Given the description of an element on the screen output the (x, y) to click on. 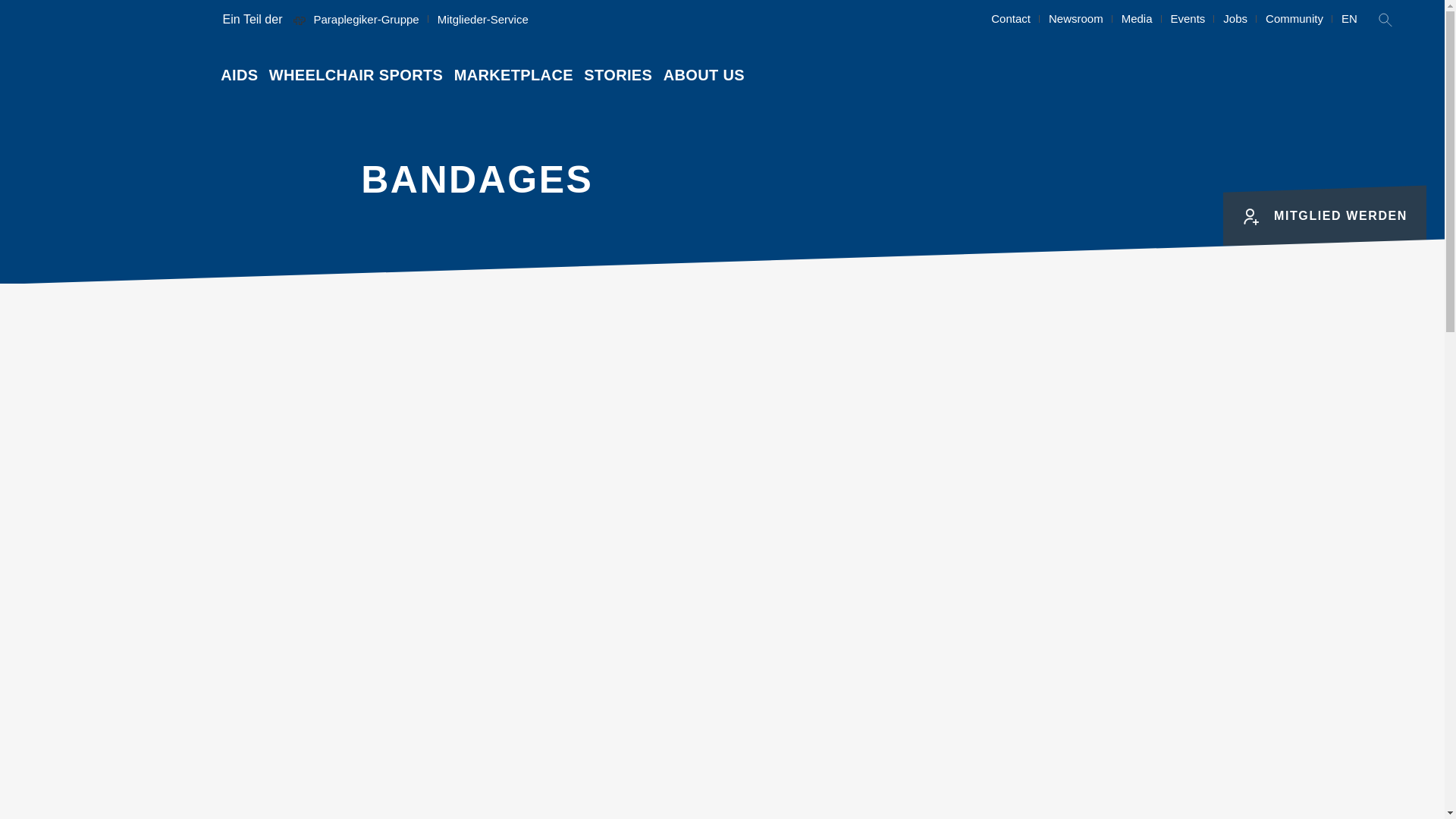
Media (1136, 18)
Paraplegiker-Gruppe (355, 18)
AIDS (239, 75)
EN (1349, 18)
ABOUT US (703, 75)
Events (1187, 18)
Jobs (1235, 18)
Mitglieder-Service (482, 18)
WHEELCHAIR SPORTS (355, 75)
Newsroom (1075, 18)
MARKETPLACE (513, 75)
STORIES (618, 75)
Community (1294, 18)
Contact (1010, 18)
